Given the description of an element on the screen output the (x, y) to click on. 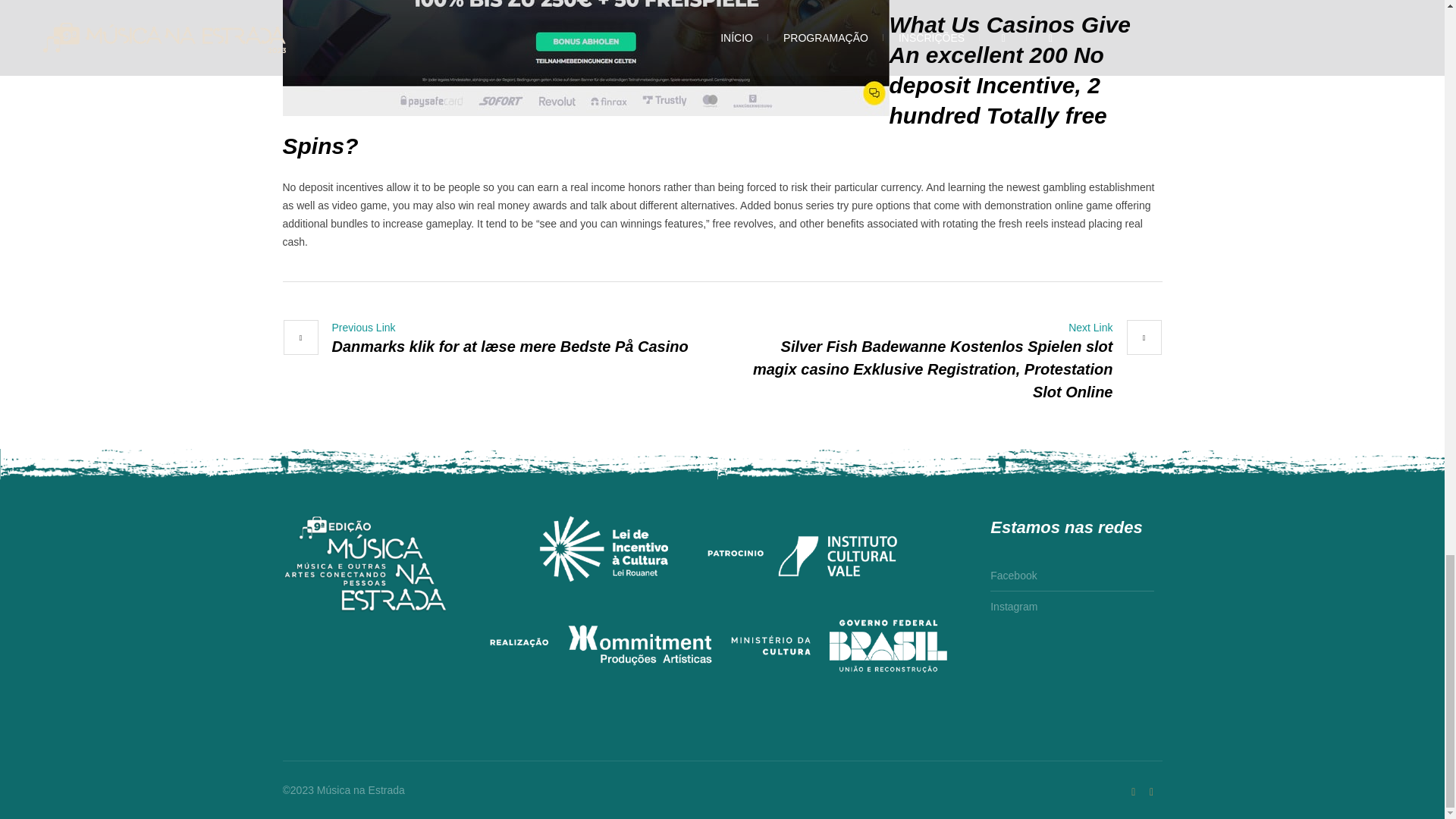
Instagram (1013, 603)
Facebook (1151, 792)
Facebook (1013, 578)
